Given the description of an element on the screen output the (x, y) to click on. 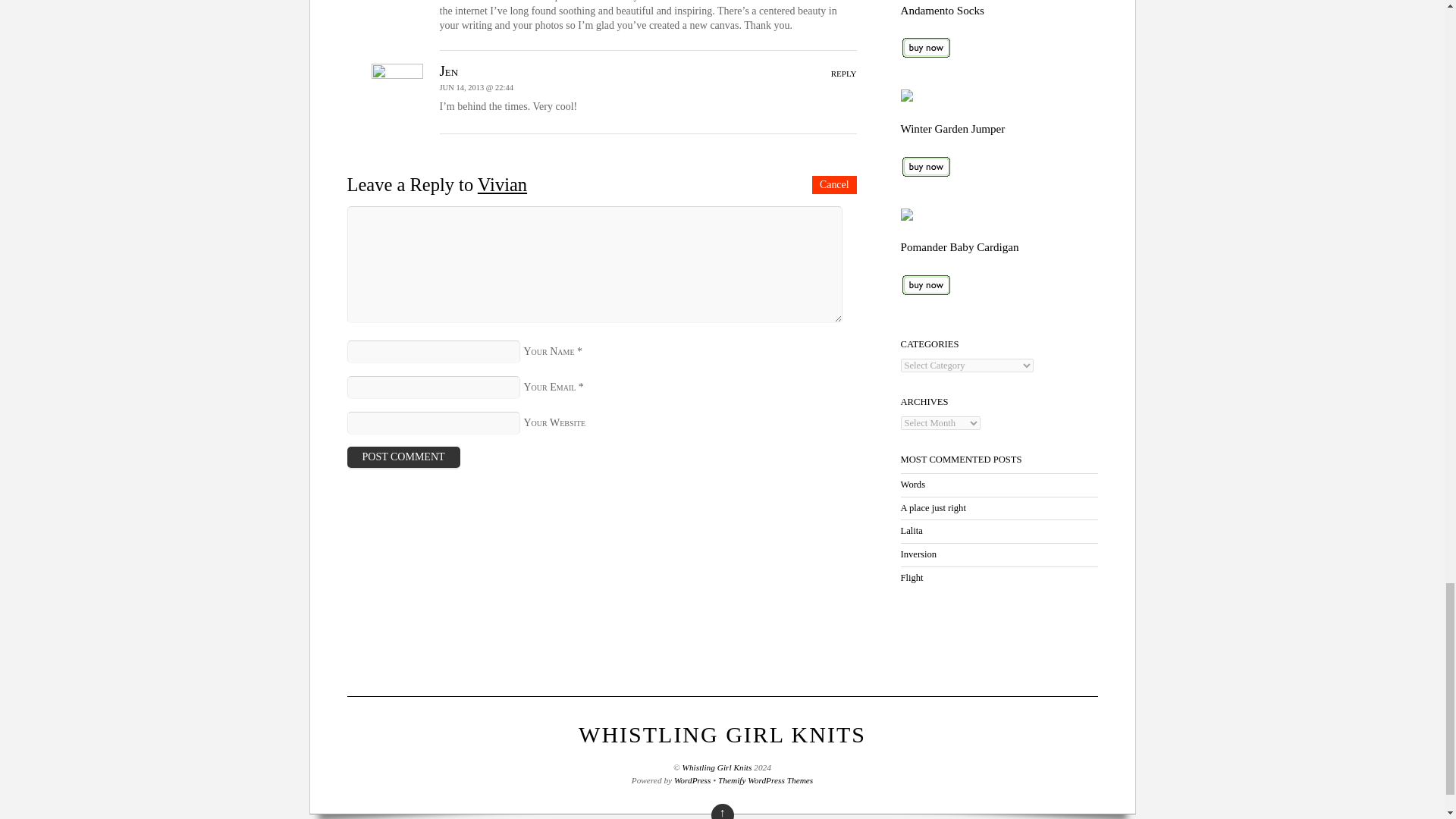
Post Comment (403, 456)
Post Comment (403, 456)
Jen (448, 70)
Whistling Girl Knits (722, 733)
Vivian (502, 184)
REPLY (844, 72)
Cancel (834, 185)
